Given the description of an element on the screen output the (x, y) to click on. 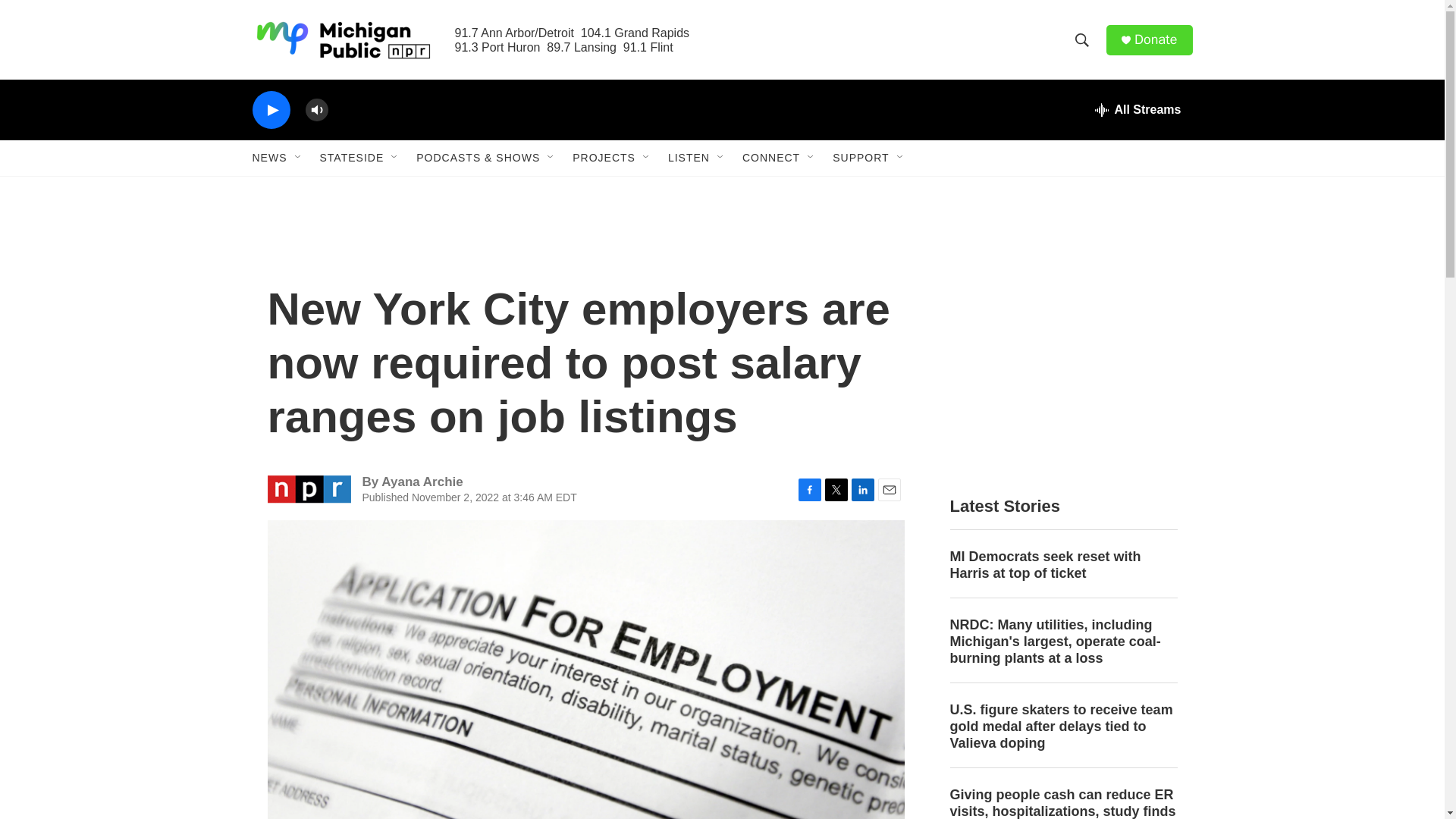
3rd party ad content (1062, 351)
